Given the description of an element on the screen output the (x, y) to click on. 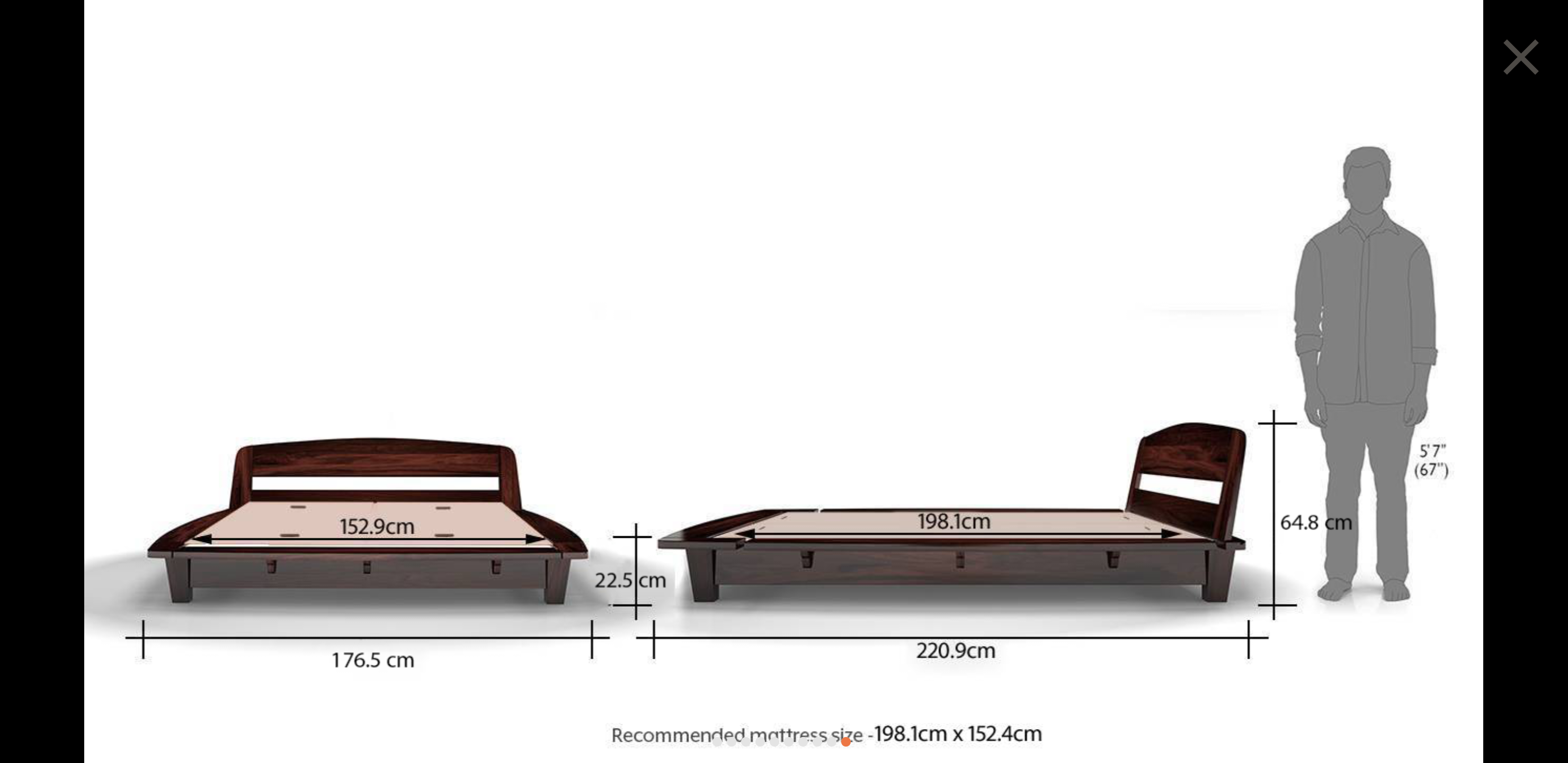
 (1520, 55)
